Given the description of an element on the screen output the (x, y) to click on. 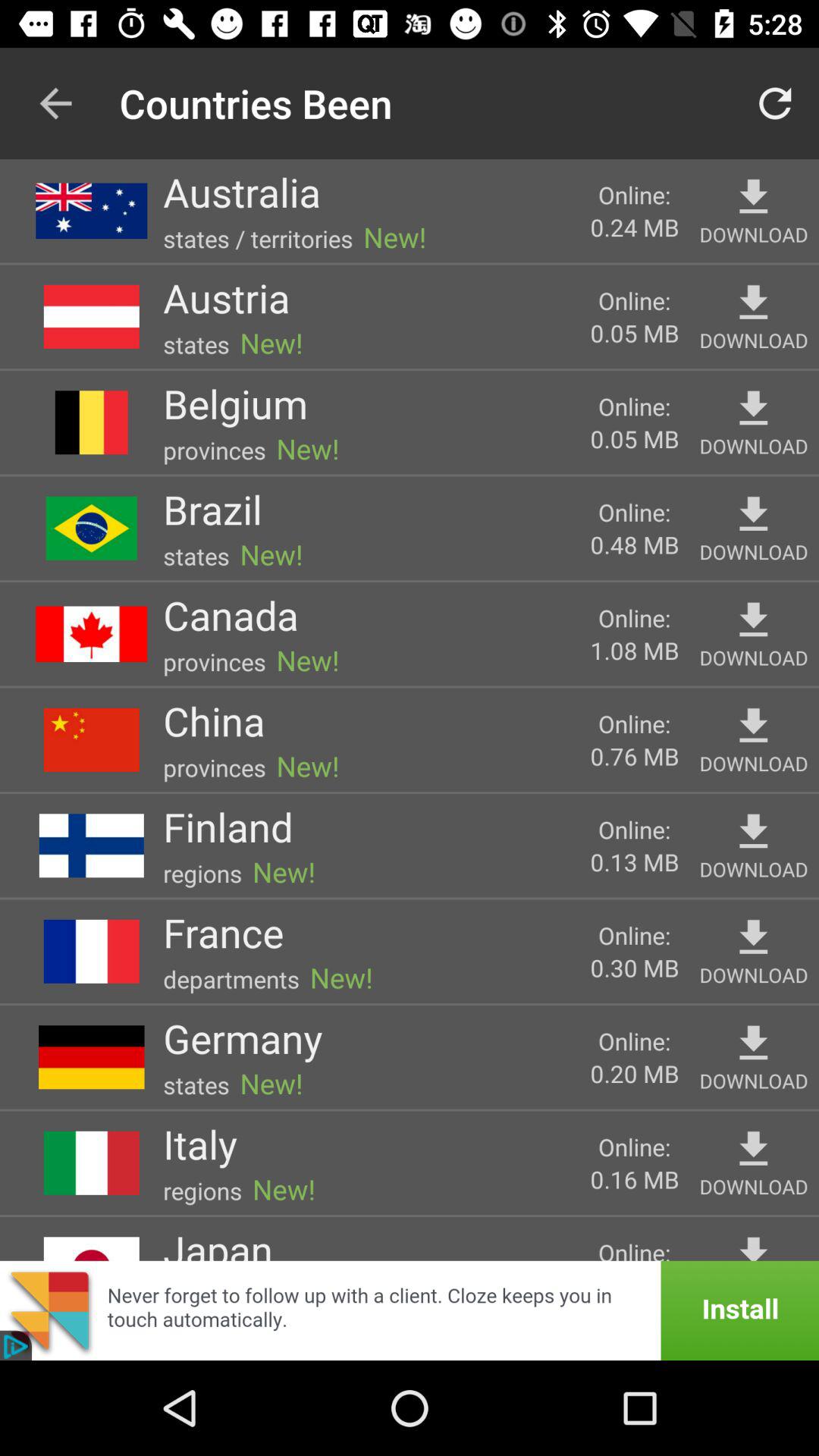
download (753, 726)
